Given the description of an element on the screen output the (x, y) to click on. 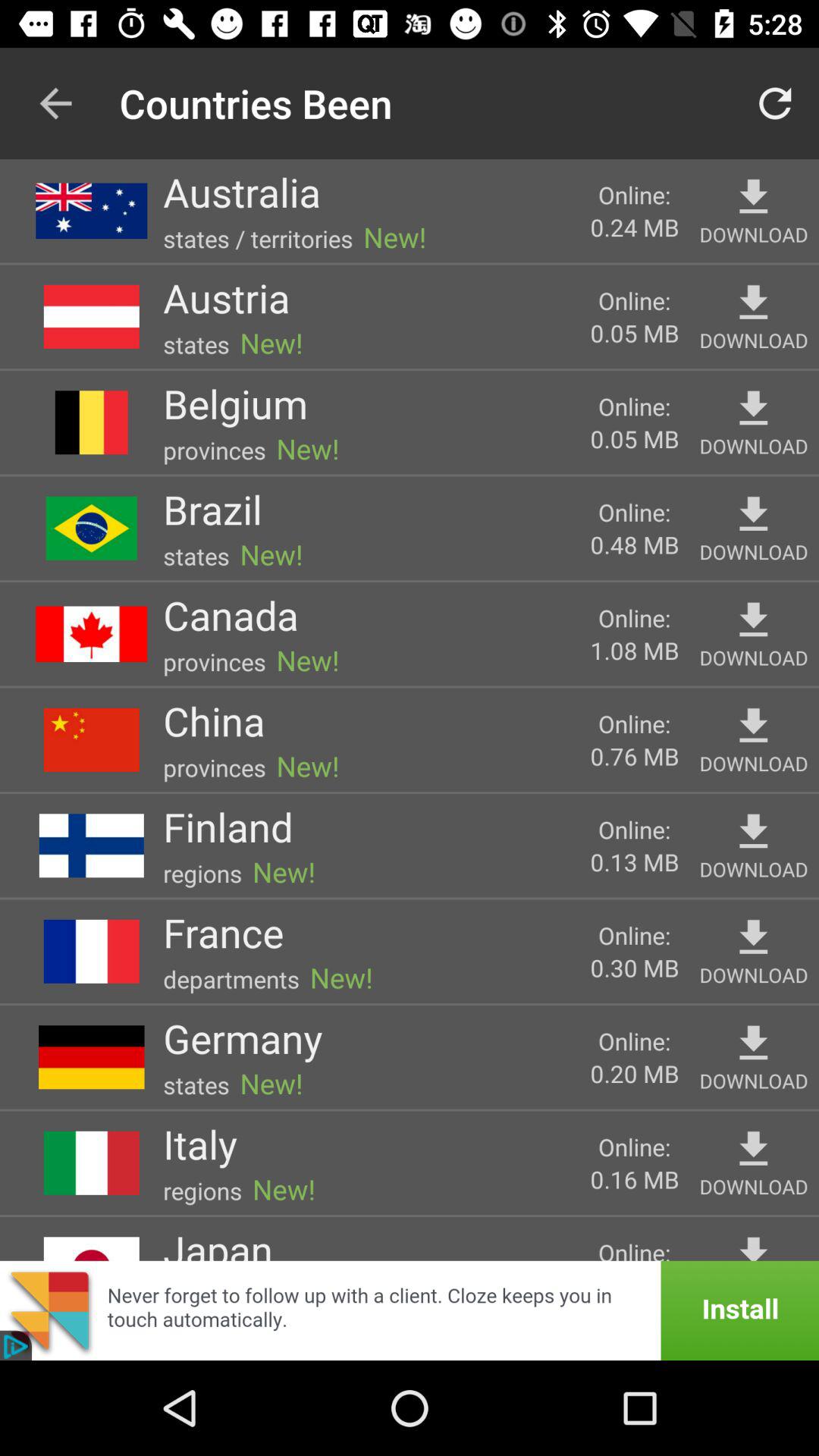
download (753, 726)
